Given the description of an element on the screen output the (x, y) to click on. 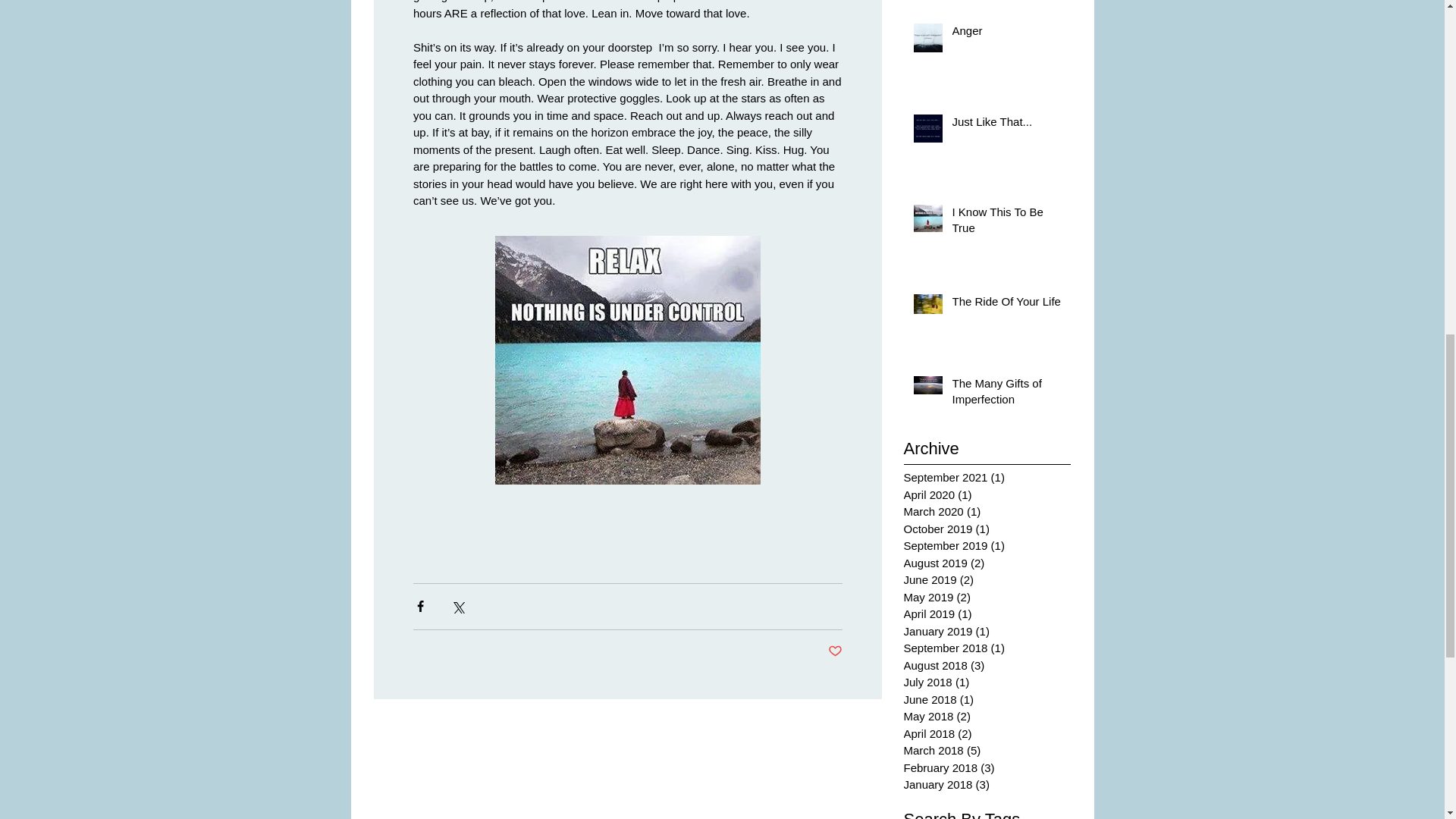
Post not marked as liked (835, 651)
Just Like That... (1006, 124)
The Many Gifts of Imperfection (1006, 394)
The Ride Of Your Life (1006, 304)
I Know This To Be True (1006, 222)
Anger (1006, 33)
